Given the description of an element on the screen output the (x, y) to click on. 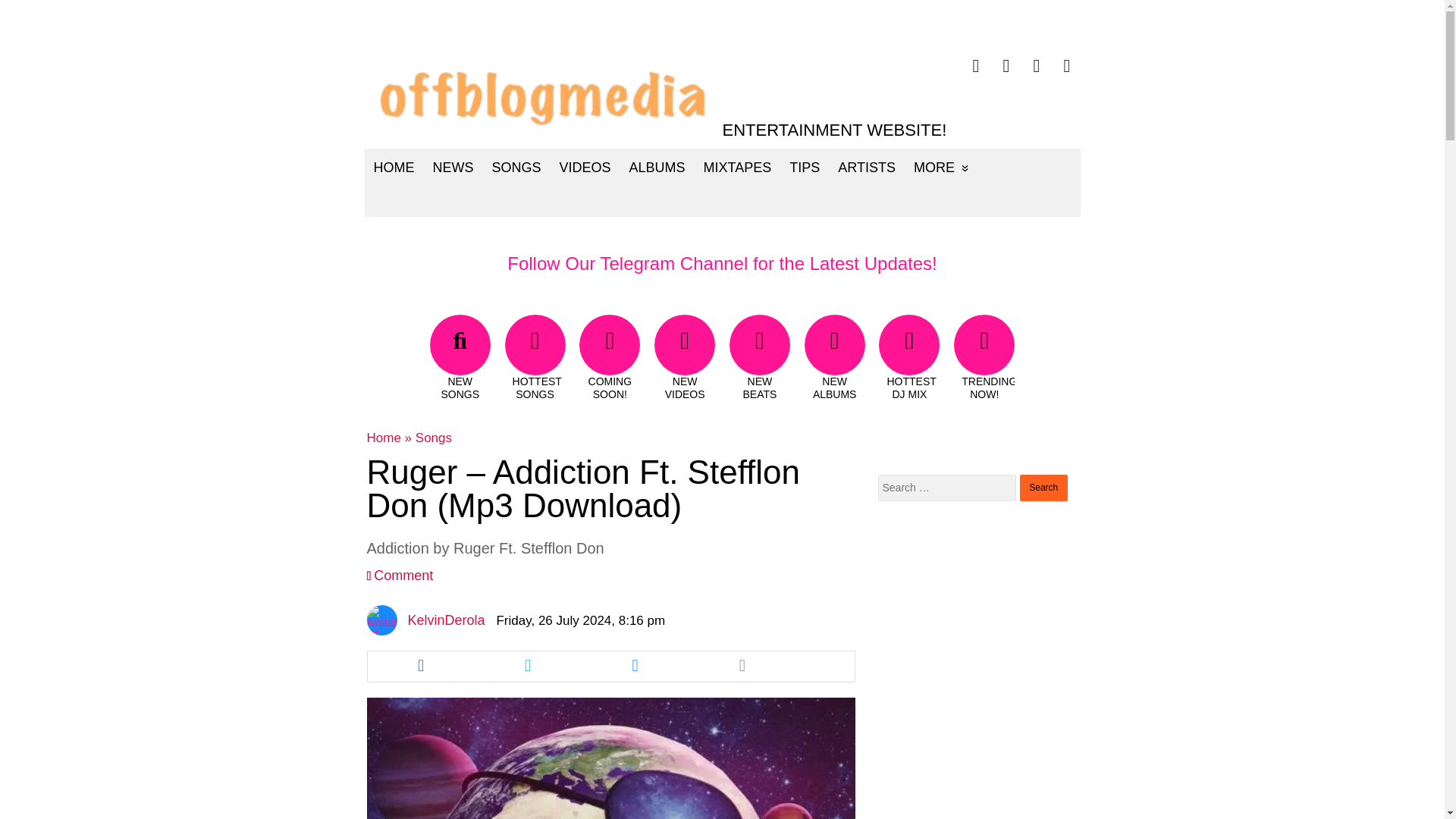
NEWS (452, 167)
SONGS (515, 167)
Follow Offblogmedia on Pinterest (1036, 66)
ARTISTS (866, 167)
TIPS (804, 167)
ALBUMS (657, 167)
HOME (393, 167)
Posts by KelvinDerola (445, 620)
Gravatar for KelvinDerola (381, 620)
MIXTAPES (737, 167)
Follow Offblogmedia on Instagram (1067, 66)
Follow Offblogmedia on Twitter (1006, 66)
MORE (941, 167)
Follow Offblogmedia on Facebook (976, 66)
Search (1043, 488)
